Given the description of an element on the screen output the (x, y) to click on. 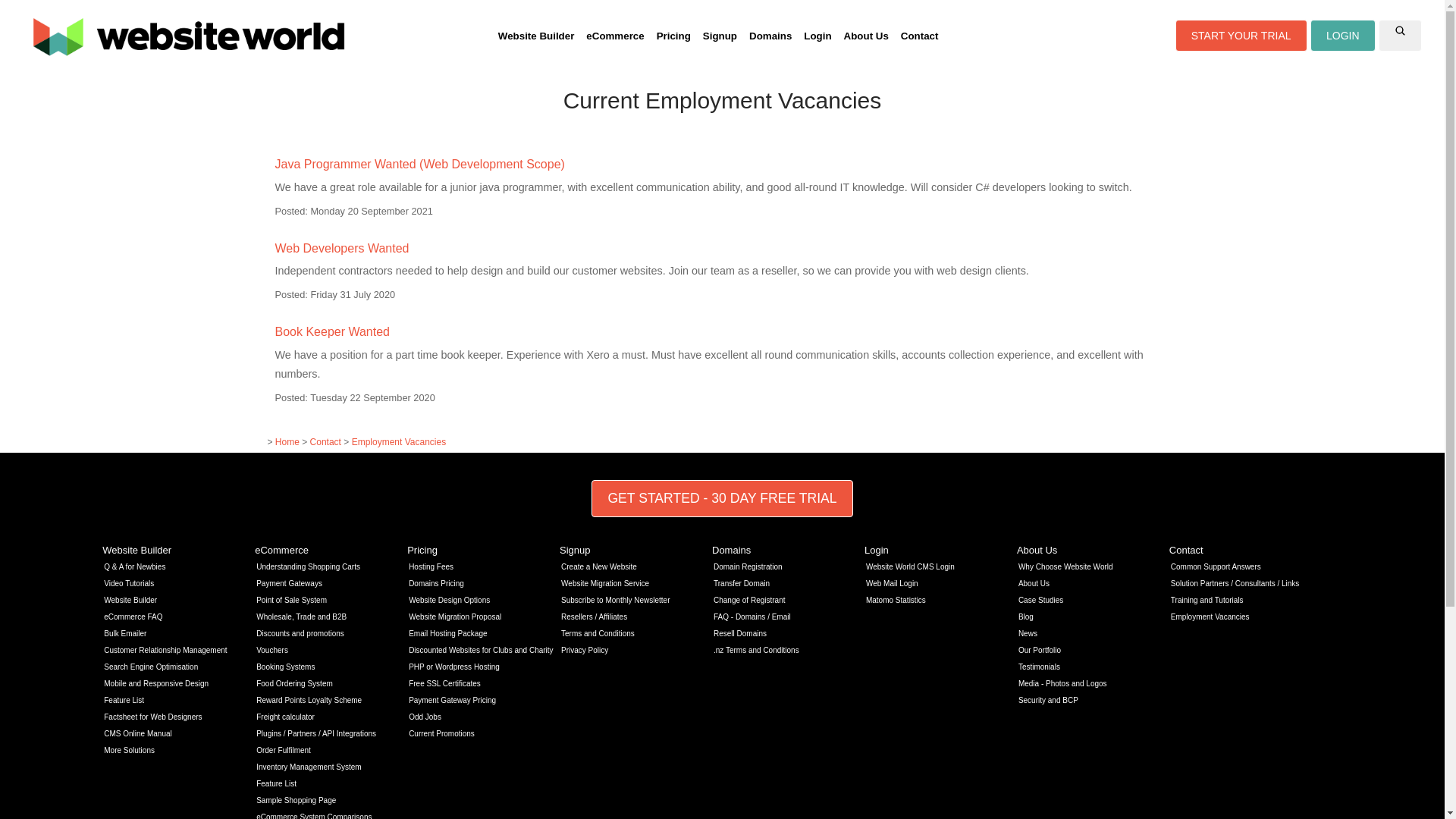
eCommerce (614, 35)
Website Builder (535, 35)
